Given the description of an element on the screen output the (x, y) to click on. 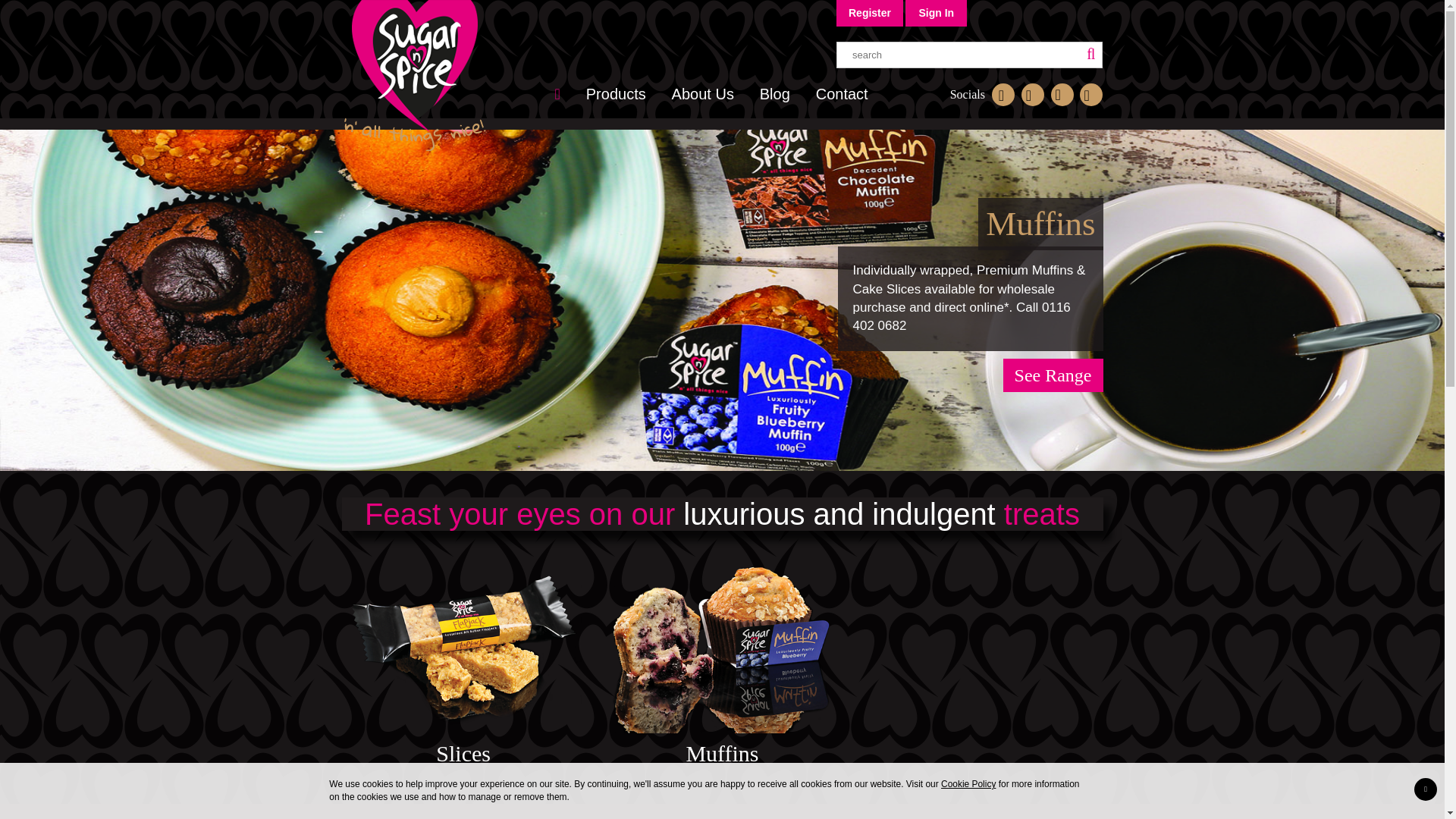
Search store (968, 54)
Register (869, 12)
About Us (702, 93)
register (869, 12)
Cookie Policy (967, 783)
Contact (841, 93)
like on facebook (1002, 94)
follow on twitter (1032, 94)
Blog (775, 93)
Products (616, 93)
